Given the description of an element on the screen output the (x, y) to click on. 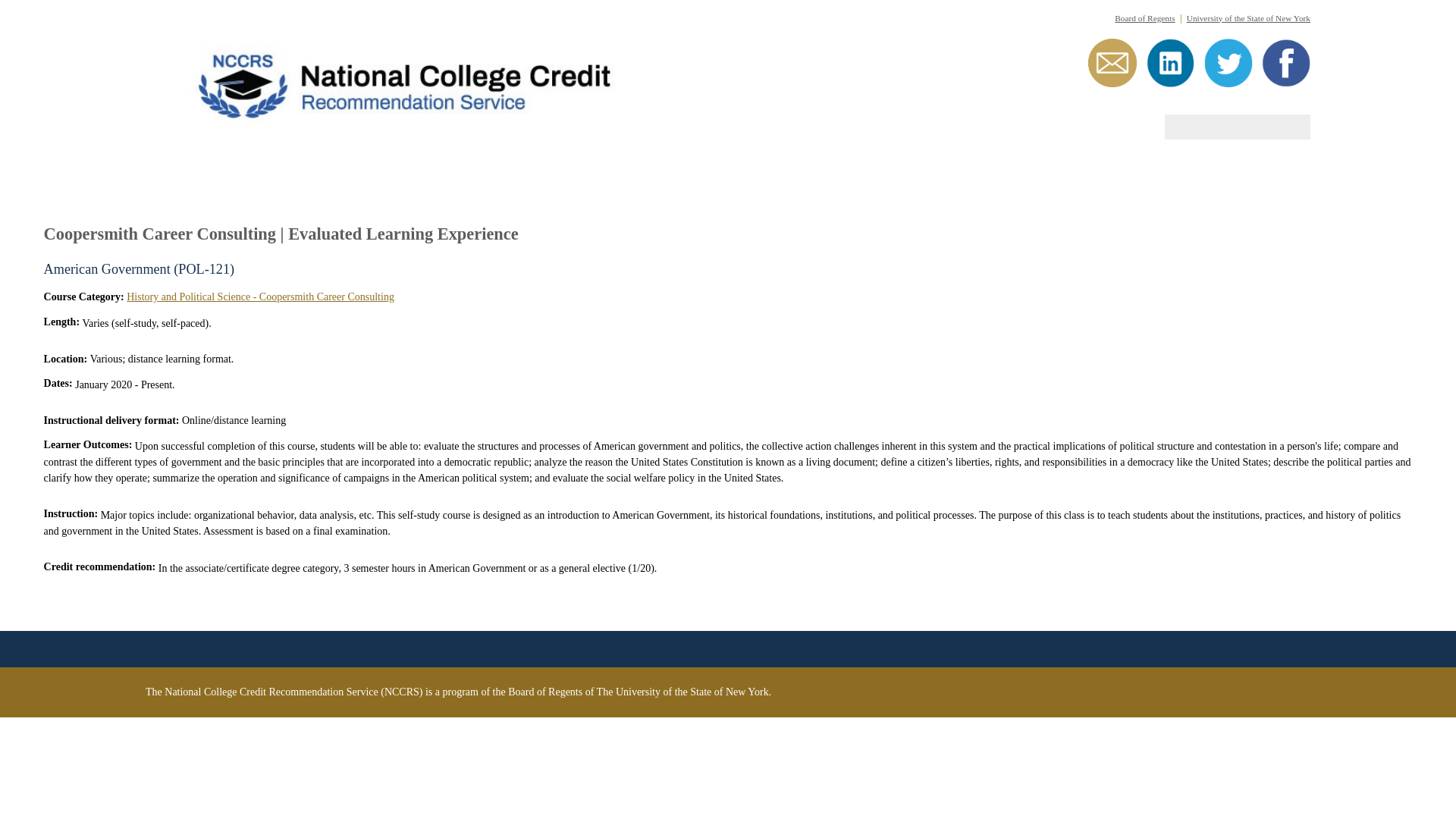
Home (430, 82)
University of the State of New York (1248, 17)
Board of Regents (1144, 17)
